Given the description of an element on the screen output the (x, y) to click on. 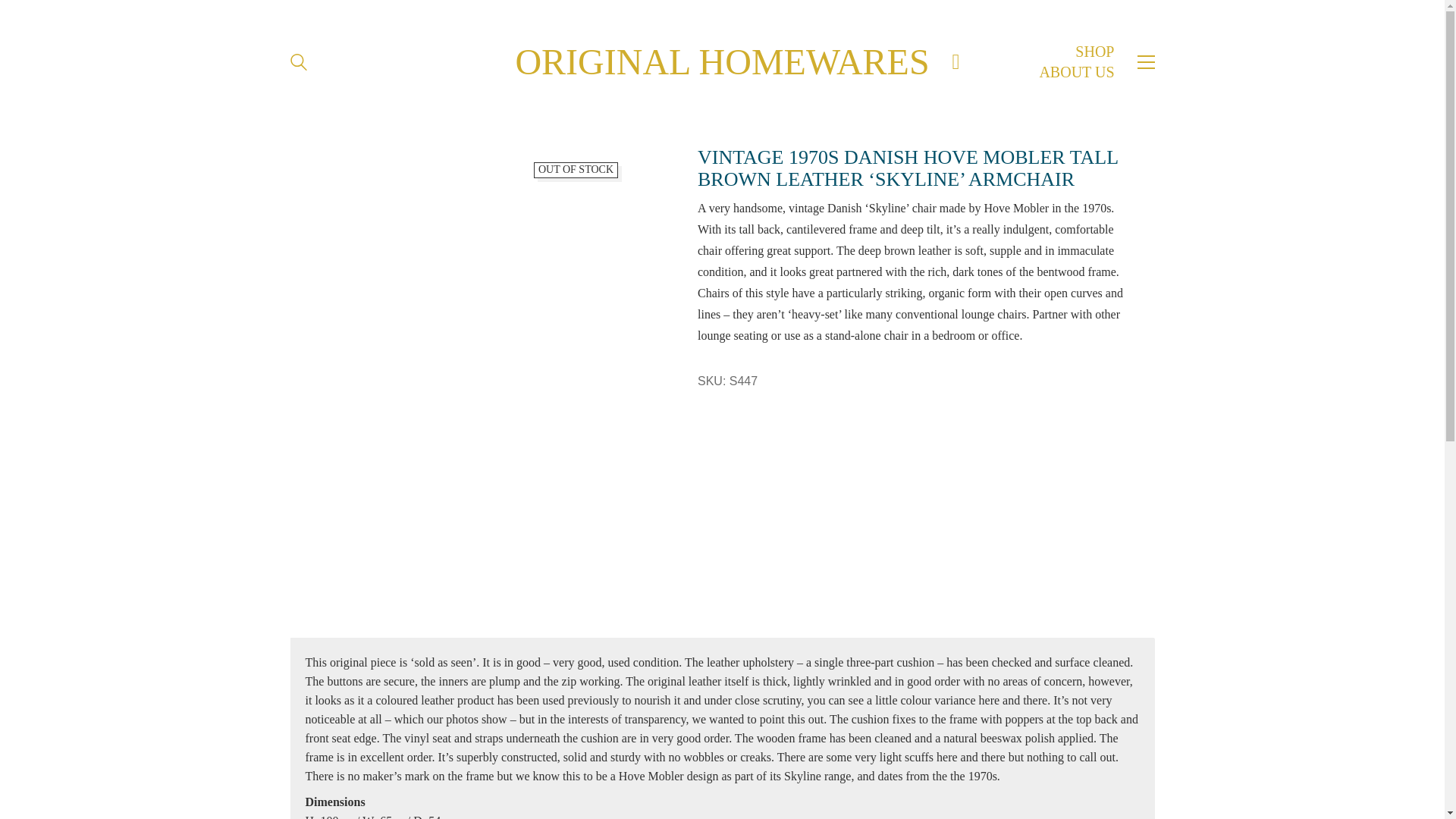
ORIGINAL HOMEWARES (721, 61)
